Given the description of an element on the screen output the (x, y) to click on. 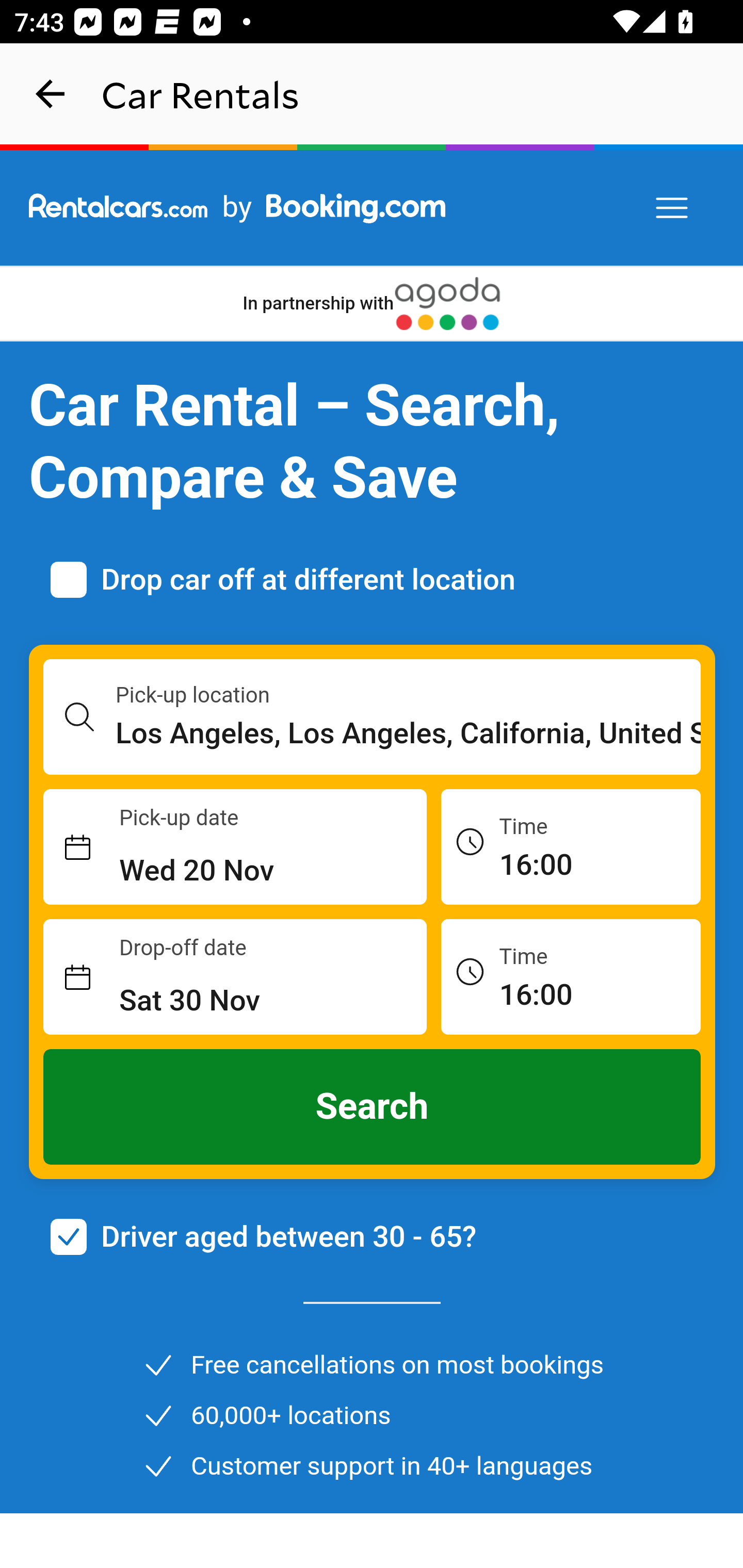
navigation_button (50, 93)
